Given the description of an element on the screen output the (x, y) to click on. 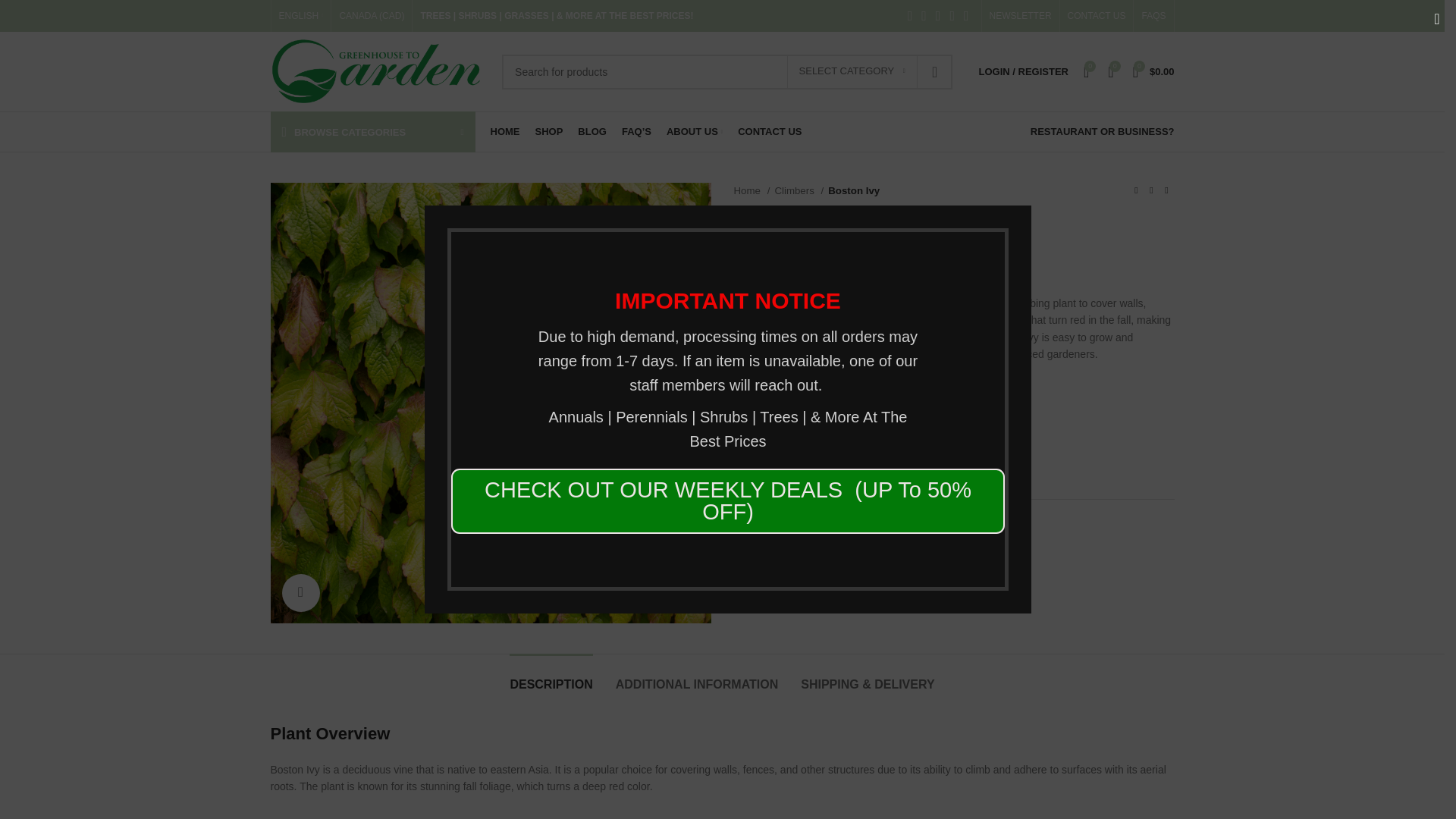
Shopping cart (1153, 71)
ENGLISH (301, 15)
SELECT CATEGORY (852, 71)
NEWSLETTER (1020, 15)
Search for products (727, 71)
My account (1023, 71)
SELECT CATEGORY (852, 71)
CONTACT US (1096, 15)
